Given the description of an element on the screen output the (x, y) to click on. 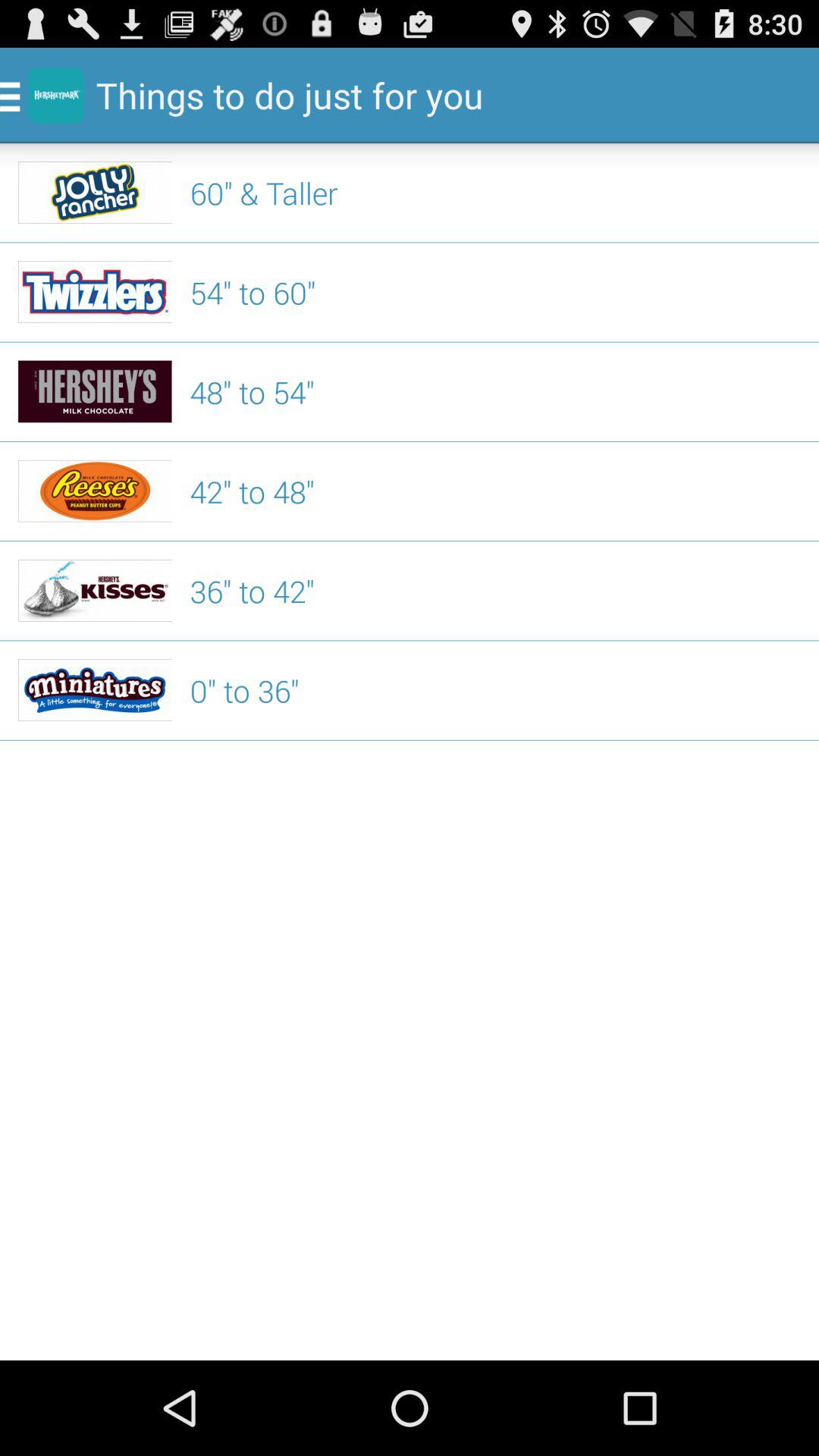
launch the icon below the things to do (494, 192)
